Given the description of an element on the screen output the (x, y) to click on. 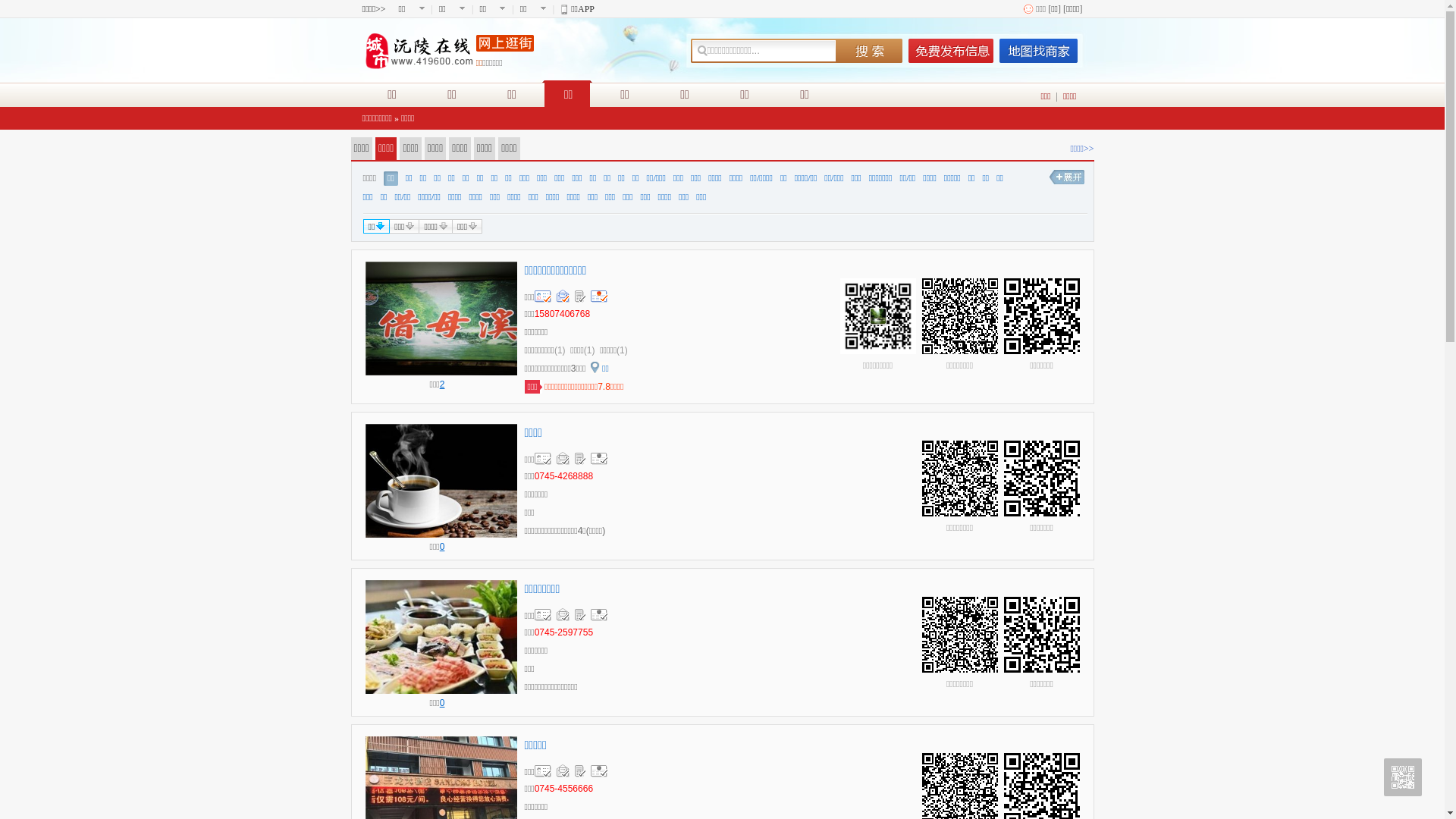
0 Element type: text (442, 702)
0 Element type: text (442, 546)
2 Element type: text (442, 384)
